Given the description of an element on the screen output the (x, y) to click on. 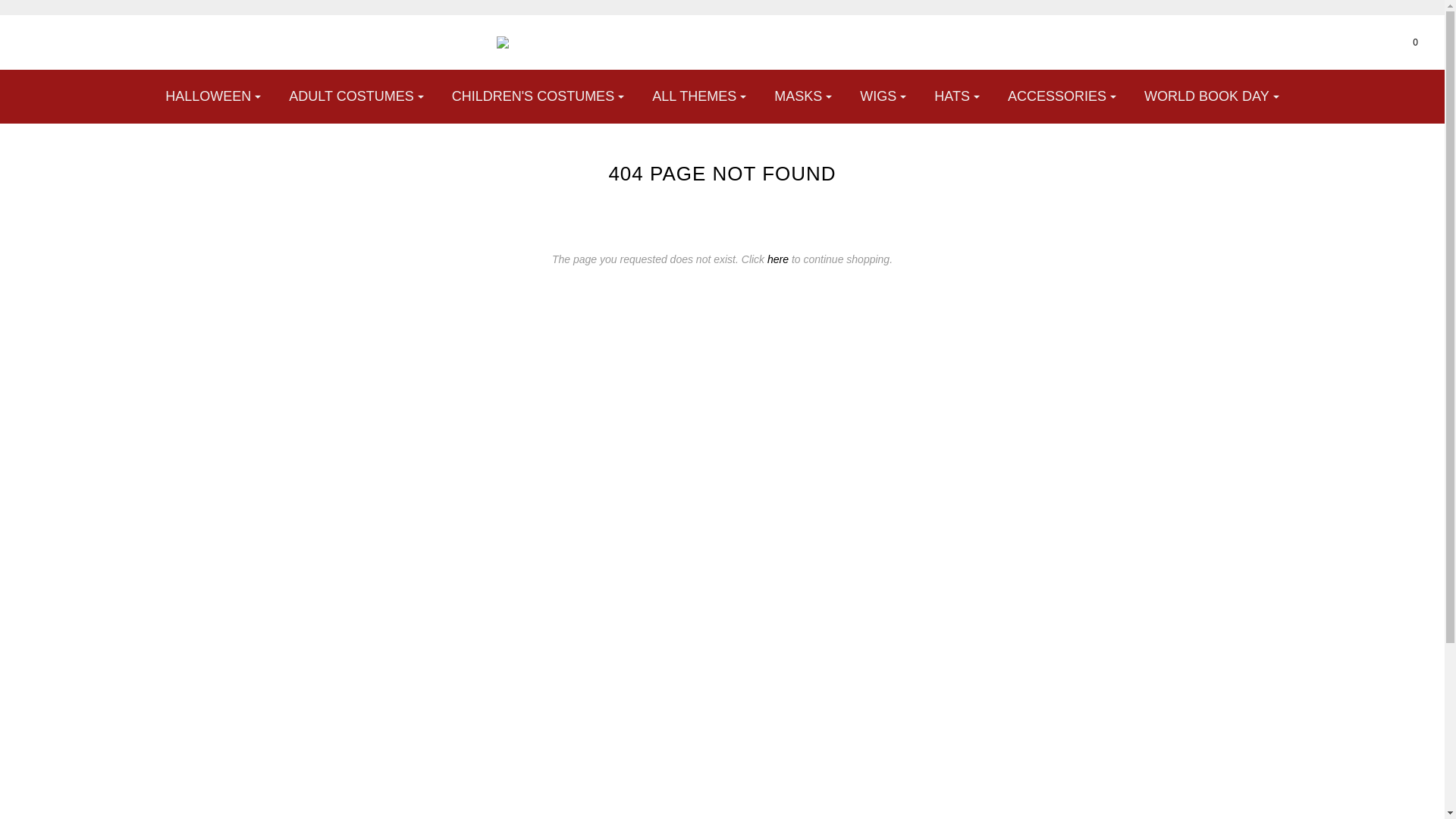
0 (1405, 41)
HALLOWEEN (213, 96)
Cart (1405, 41)
